Given the description of an element on the screen output the (x, y) to click on. 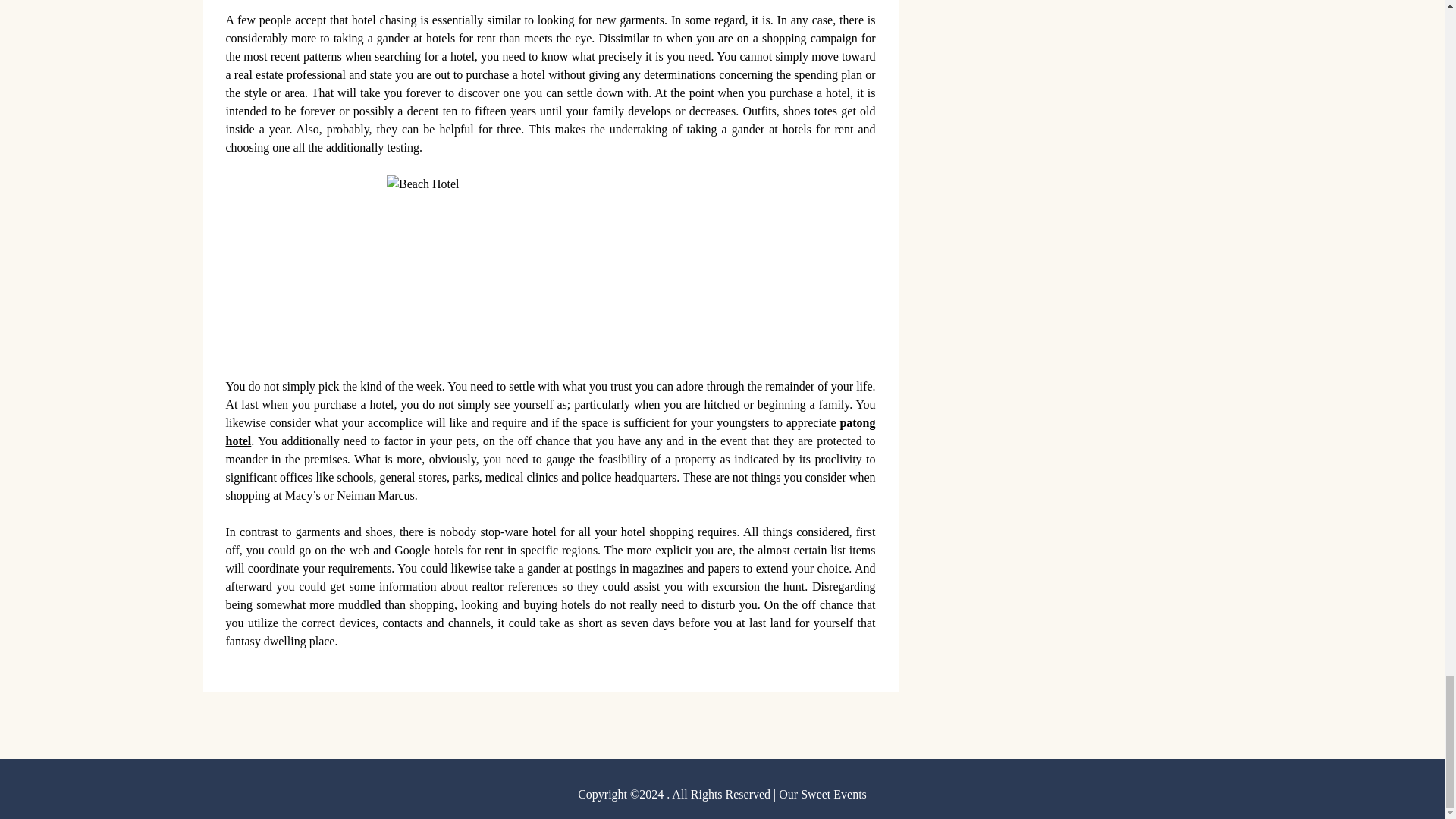
patong hotel (550, 431)
